Given the description of an element on the screen output the (x, y) to click on. 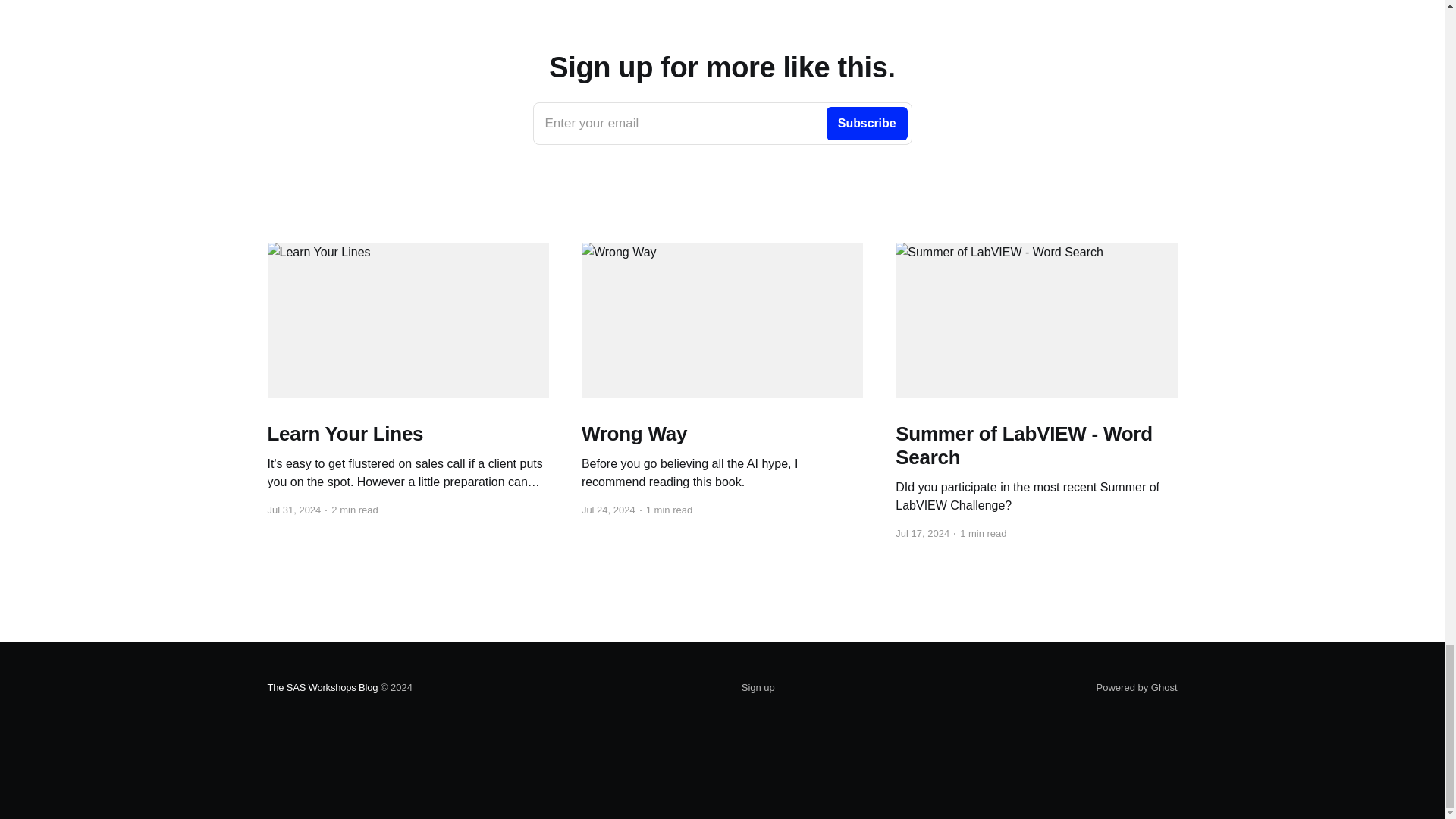
Powered by Ghost (1136, 686)
Learn Your Lines (407, 433)
Wrong Way (721, 433)
Summer of LabVIEW - Word Search (1035, 445)
Sign up (757, 687)
The SAS Workshops Blog (721, 123)
